Given the description of an element on the screen output the (x, y) to click on. 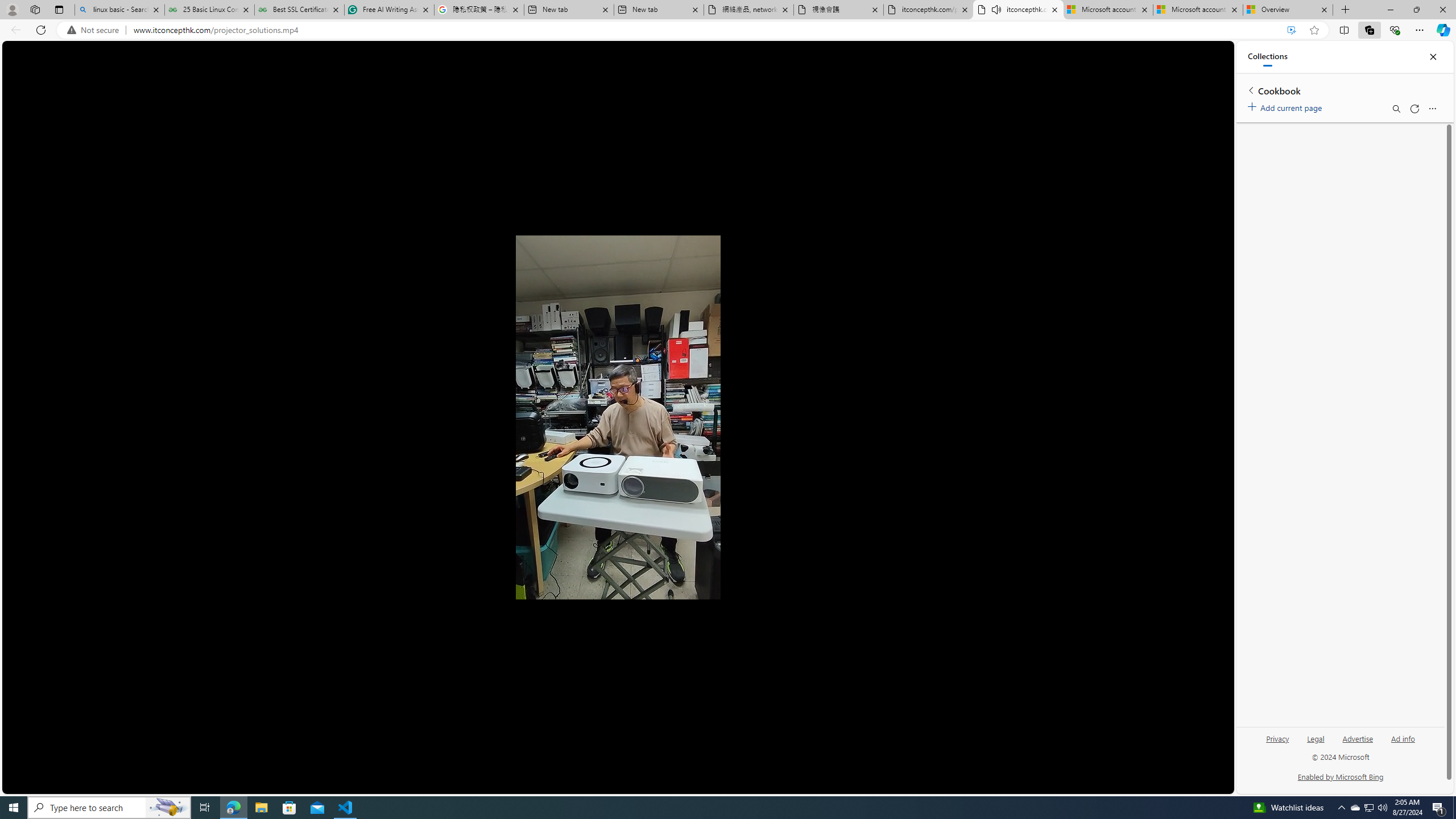
Add current page (1286, 105)
Back to list of collections (1250, 90)
Not secure (95, 29)
More options menu (1432, 108)
Overview (1287, 9)
